Given the description of an element on the screen output the (x, y) to click on. 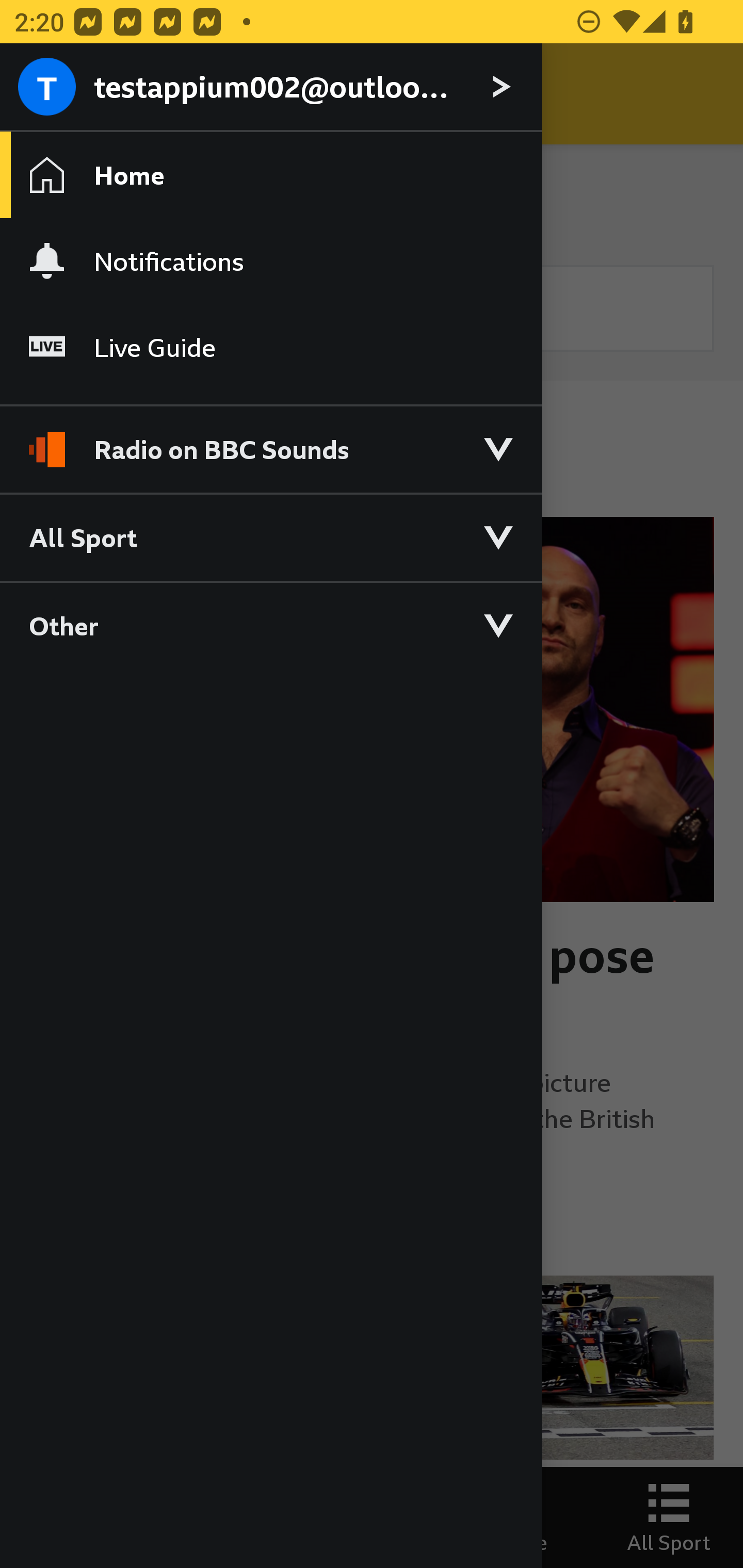
Close Menu (50, 93)
testappium002@outlook.com (270, 87)
Home (270, 174)
Notifications (270, 260)
Live Guide (270, 347)
Radio on BBC Sounds (270, 441)
All Sport (270, 536)
Other (270, 624)
